Given the description of an element on the screen output the (x, y) to click on. 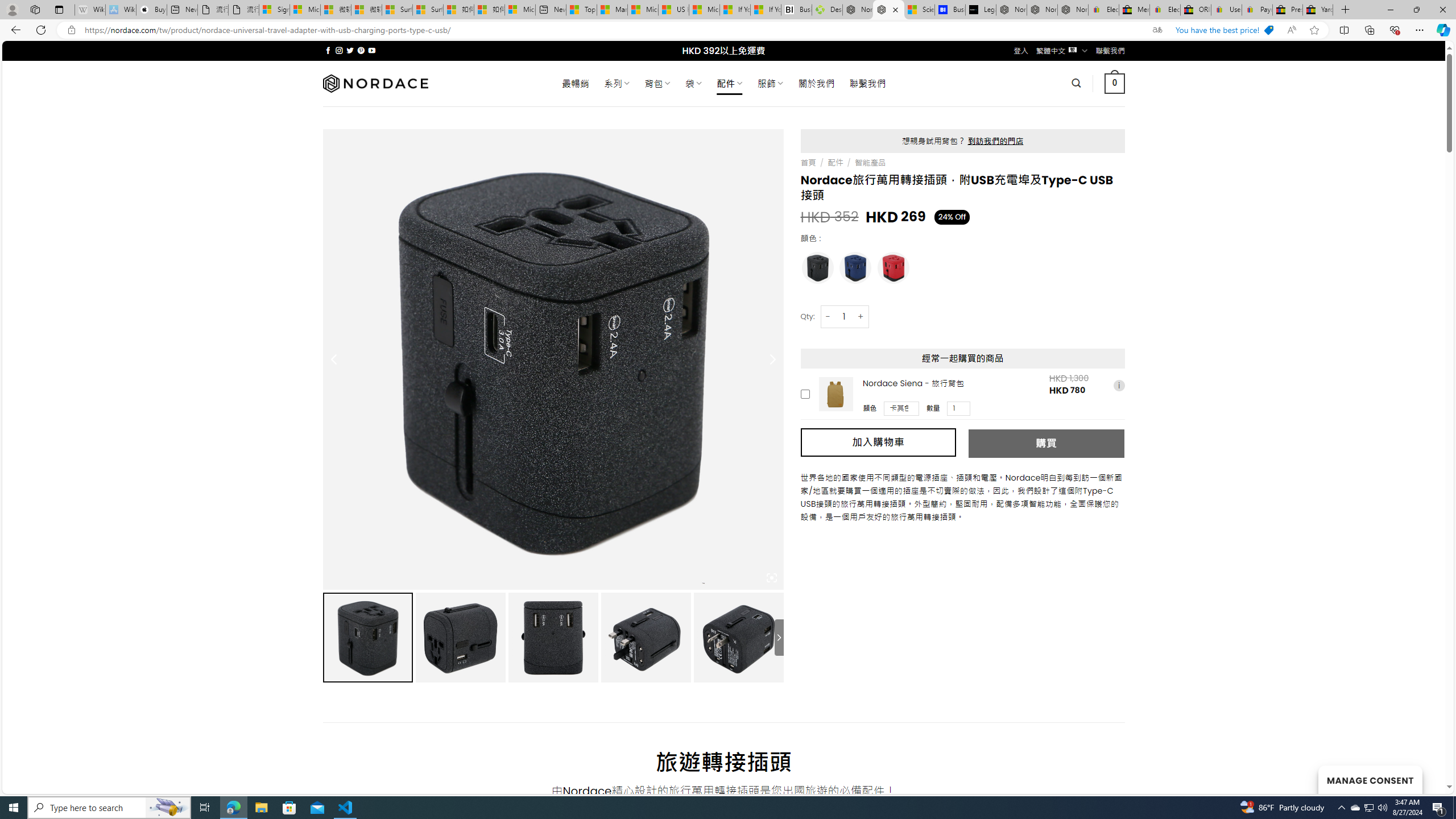
MANAGE CONSENT (1369, 779)
Microsoft Services Agreement (304, 9)
Top Stories - MSN (581, 9)
Follow on Pinterest (360, 50)
Wikipedia - Sleeping (89, 9)
